Given the description of an element on the screen output the (x, y) to click on. 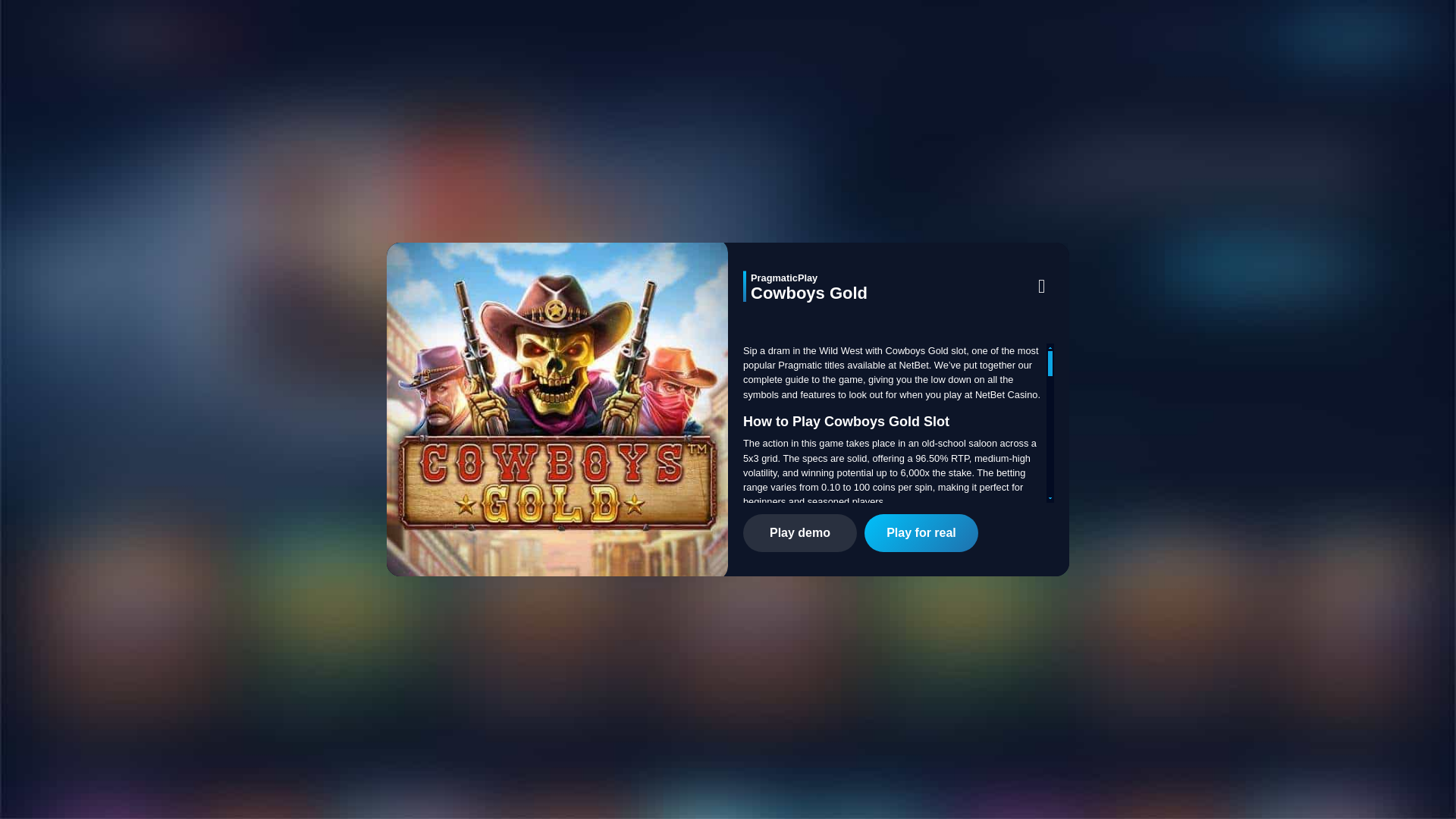
Play for real (921, 533)
Play demo (799, 533)
